Given the description of an element on the screen output the (x, y) to click on. 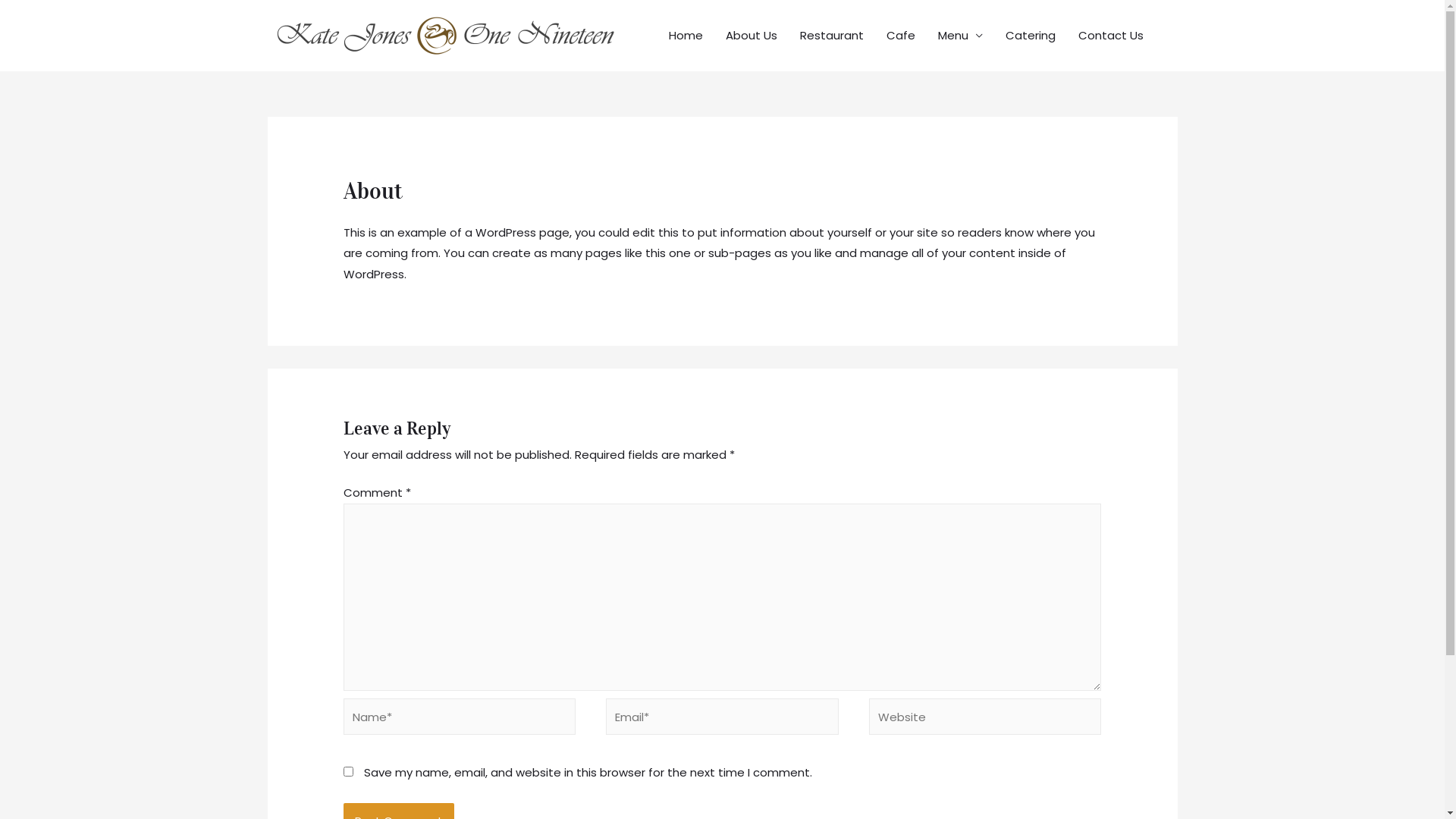
About Us Element type: text (751, 35)
Contact Us Element type: text (1110, 35)
Menu Element type: text (960, 35)
Home Element type: text (684, 35)
Catering Element type: text (1029, 35)
Restaurant Element type: text (831, 35)
Cafe Element type: text (900, 35)
